Given the description of an element on the screen output the (x, y) to click on. 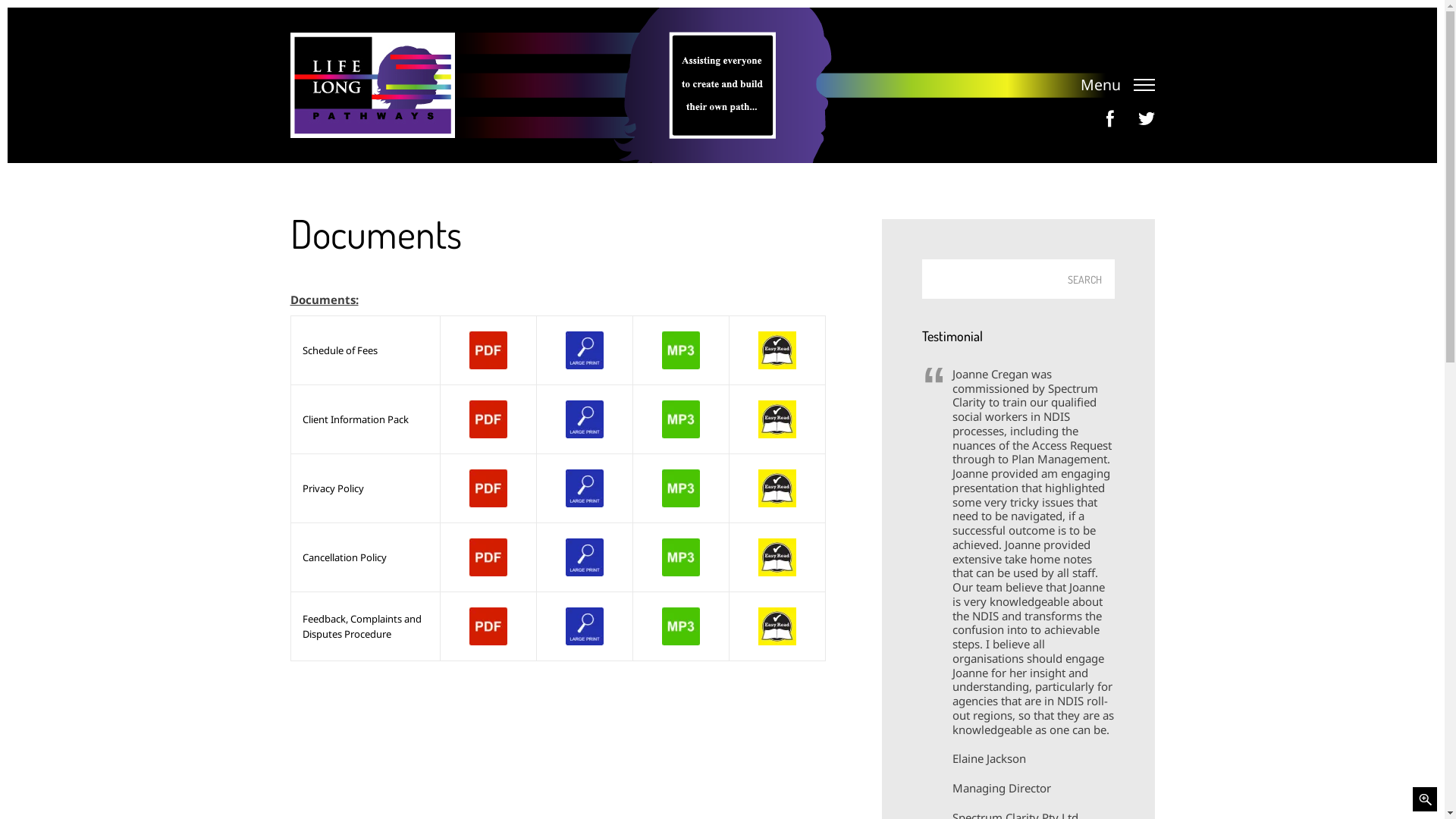
Design 2 Envy Element type: text (737, 444)
Privacy Policy Element type: text (743, 429)
SEARCH Element type: text (1085, 278)
Lifelong Pathways Element type: hover (371, 85)
